Given the description of an element on the screen output the (x, y) to click on. 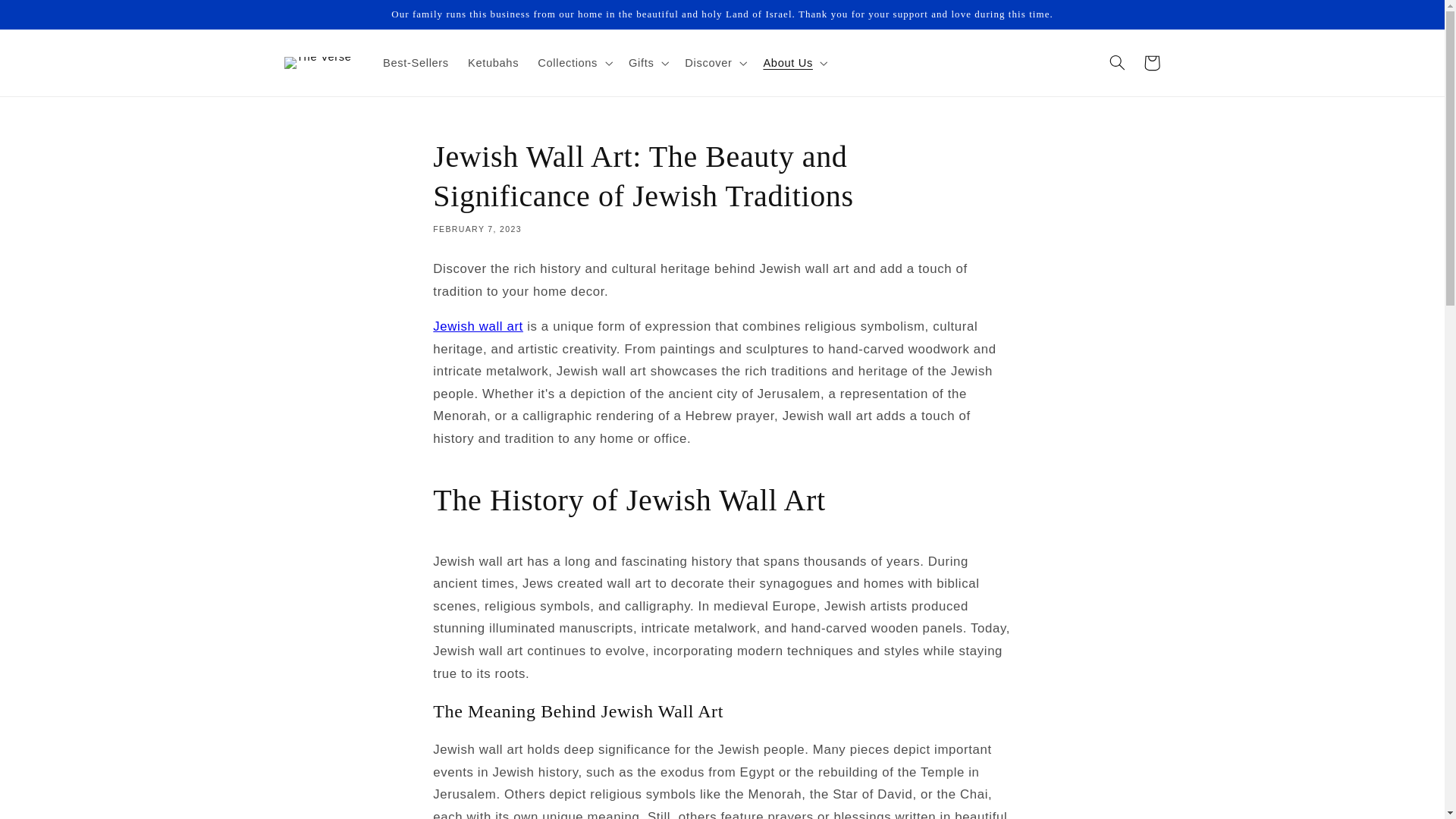
Skip to content (48, 18)
Jewish wall art  (477, 326)
Best-Sellers (415, 62)
Ketubahs (492, 62)
